Given the description of an element on the screen output the (x, y) to click on. 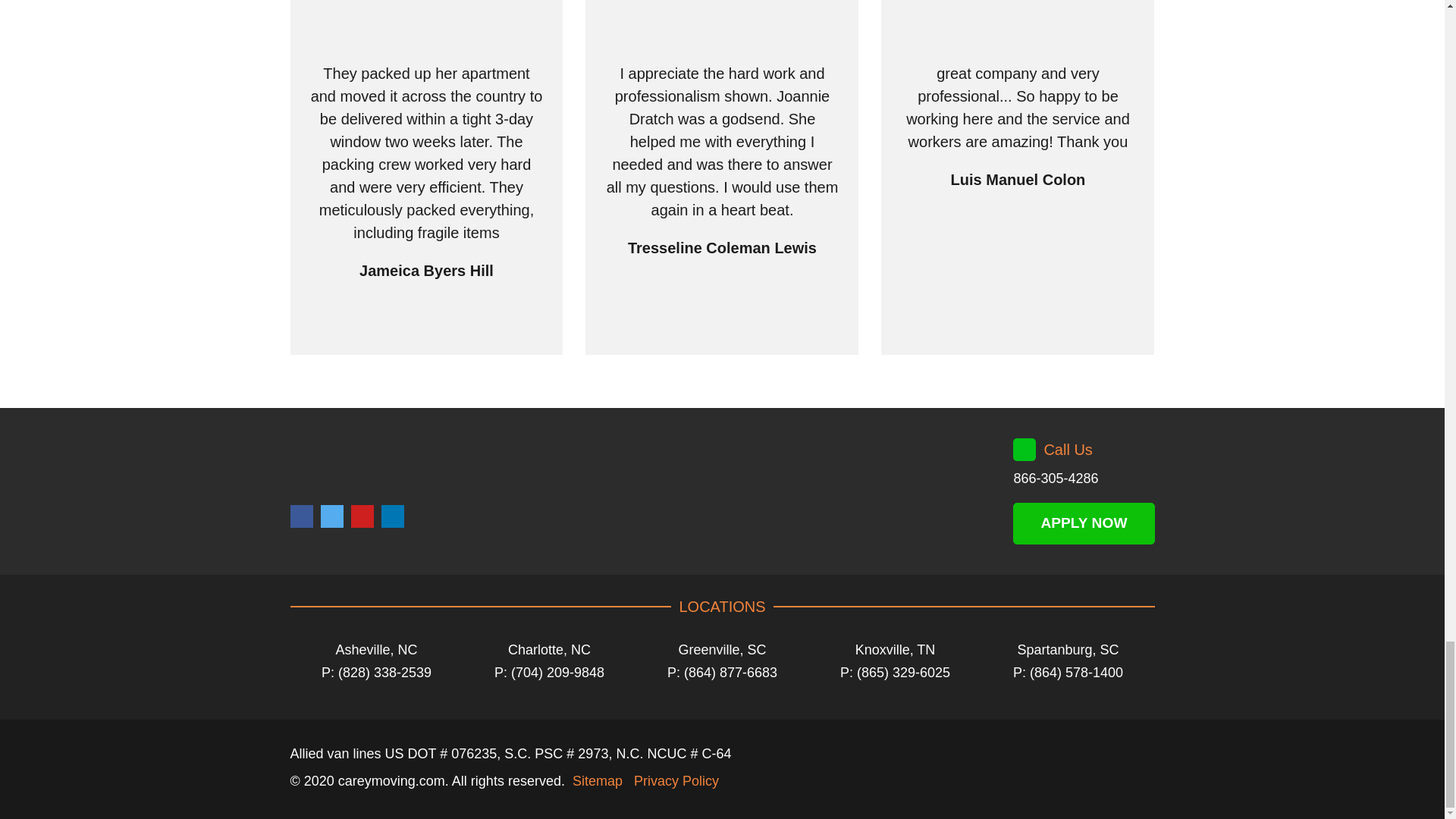
866-305-4286 (1055, 478)
APPLY NOW (1083, 523)
Sitemap (597, 780)
Privacy Policy (676, 780)
